Given the description of an element on the screen output the (x, y) to click on. 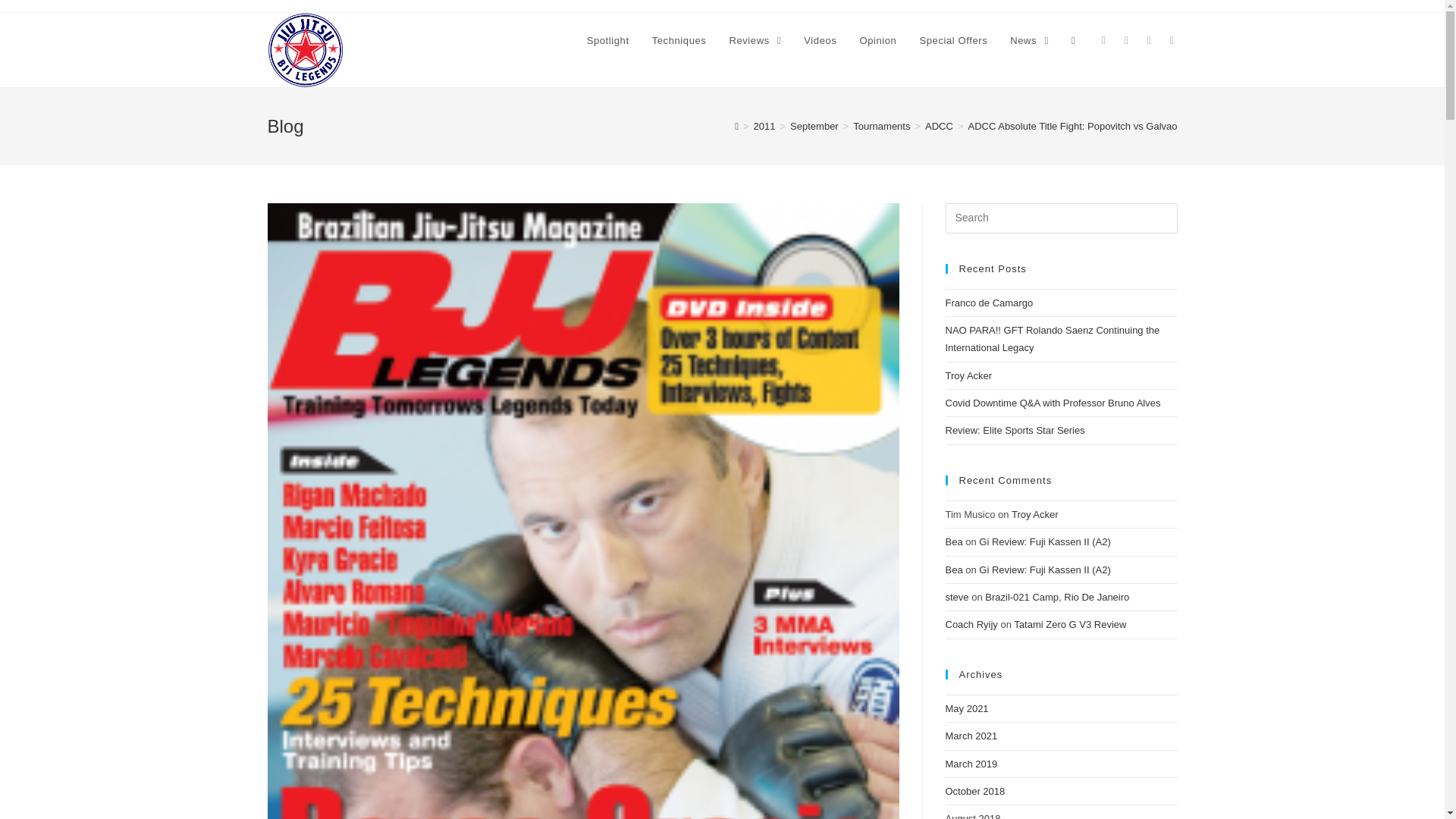
Spotlight (607, 40)
Special Offers (952, 40)
Reviews (754, 40)
News (1028, 40)
Techniques (678, 40)
Opinion (877, 40)
Videos (819, 40)
